Given the description of an element on the screen output the (x, y) to click on. 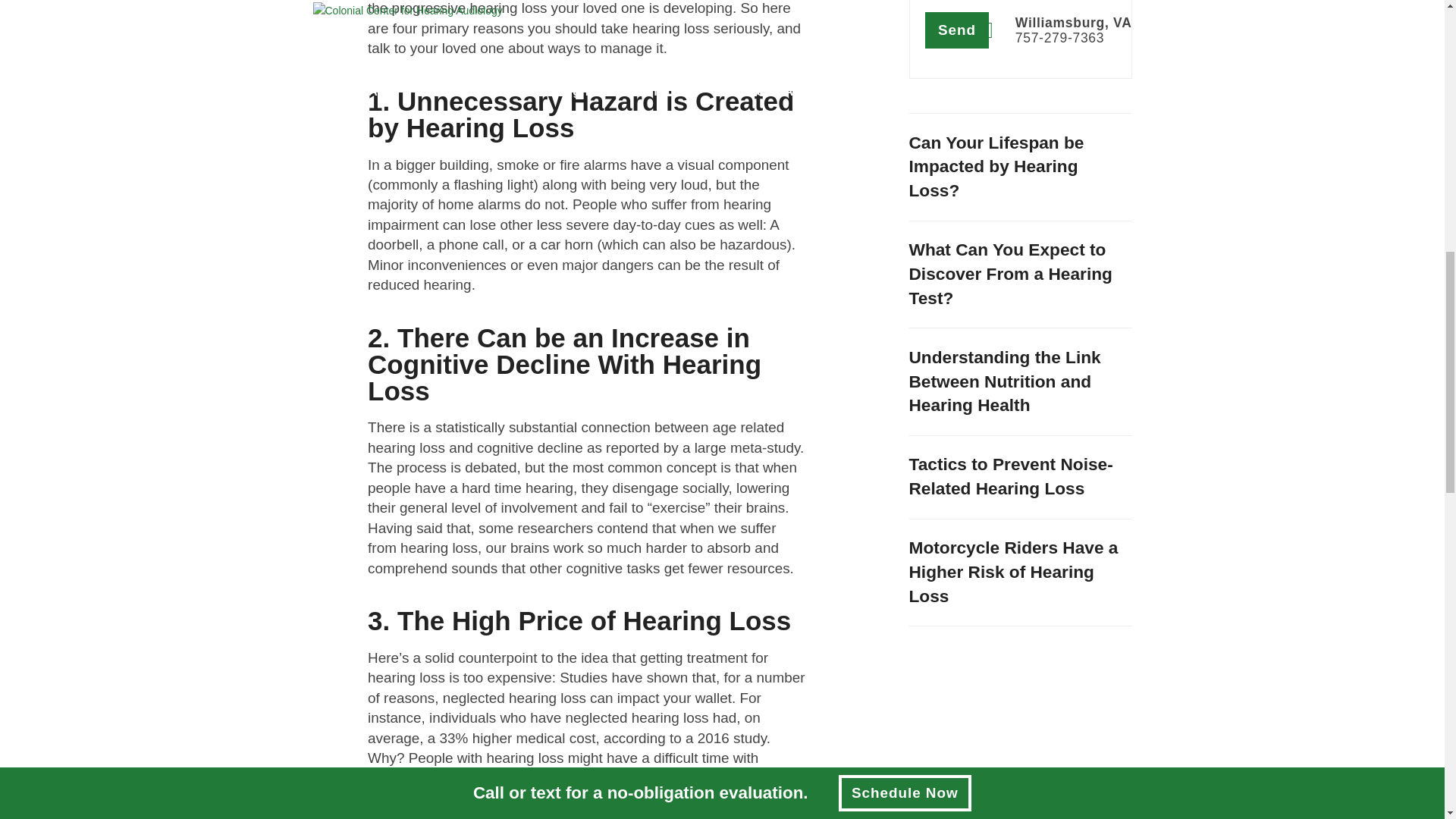
Send (957, 30)
